Given the description of an element on the screen output the (x, y) to click on. 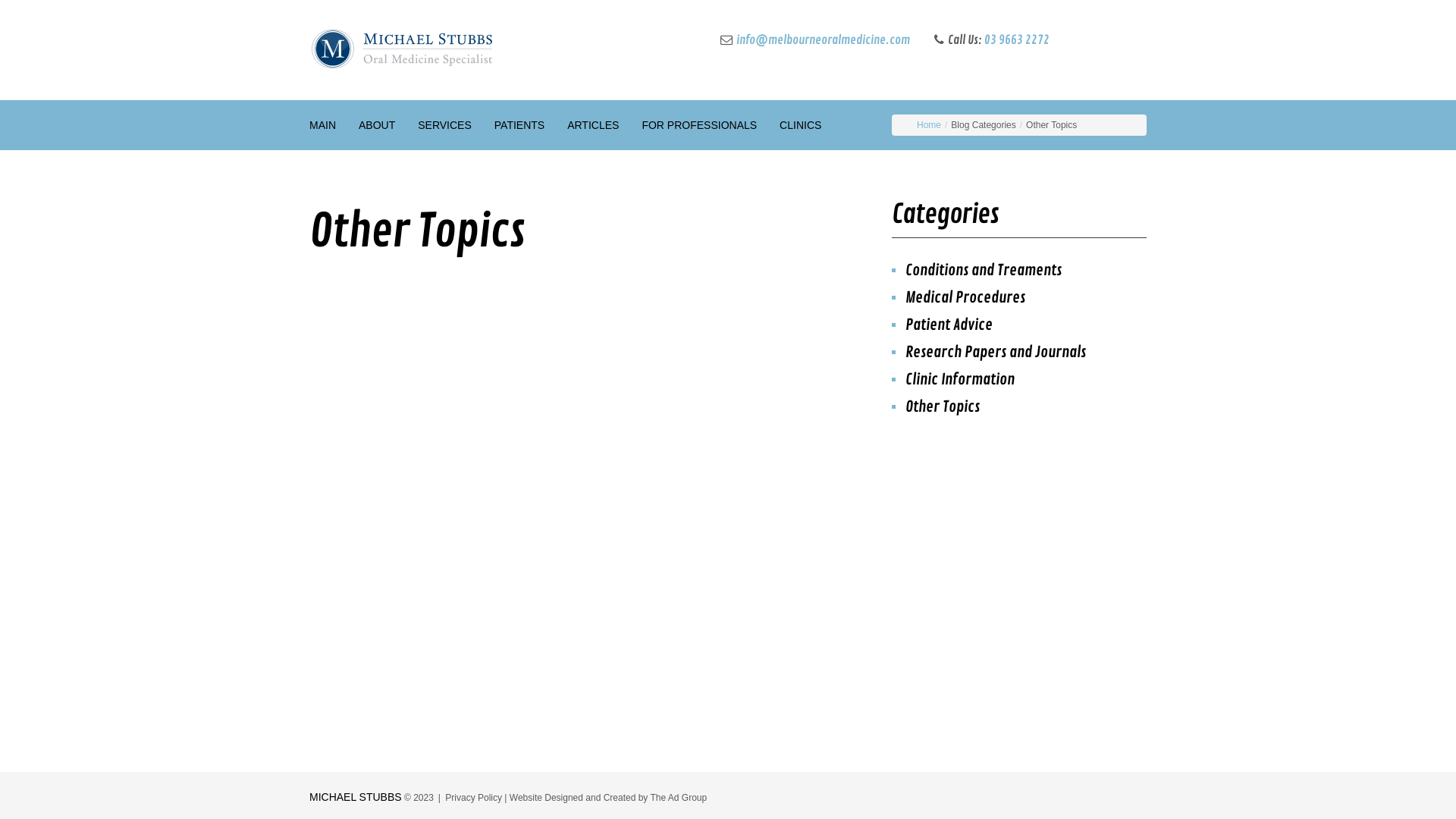
SERVICES Element type: text (444, 124)
MAIN Element type: text (322, 124)
ARTICLES Element type: text (592, 124)
PATIENTS Element type: text (519, 124)
Privacy Policy Element type: text (473, 797)
info@melbourneoralmedicine.com Element type: text (823, 39)
03 9663 2272 Element type: text (1016, 39)
Medical Procedures Element type: text (965, 297)
CLINICS Element type: text (800, 124)
Clinic Information Element type: text (959, 379)
Other Topics Element type: text (942, 406)
Patient Advice Element type: text (948, 324)
The Ad Group Element type: text (677, 797)
ABOUT Element type: text (376, 124)
Research Papers and Journals Element type: text (995, 351)
Home Element type: text (928, 124)
Conditions and Treaments Element type: text (983, 269)
